Given the description of an element on the screen output the (x, y) to click on. 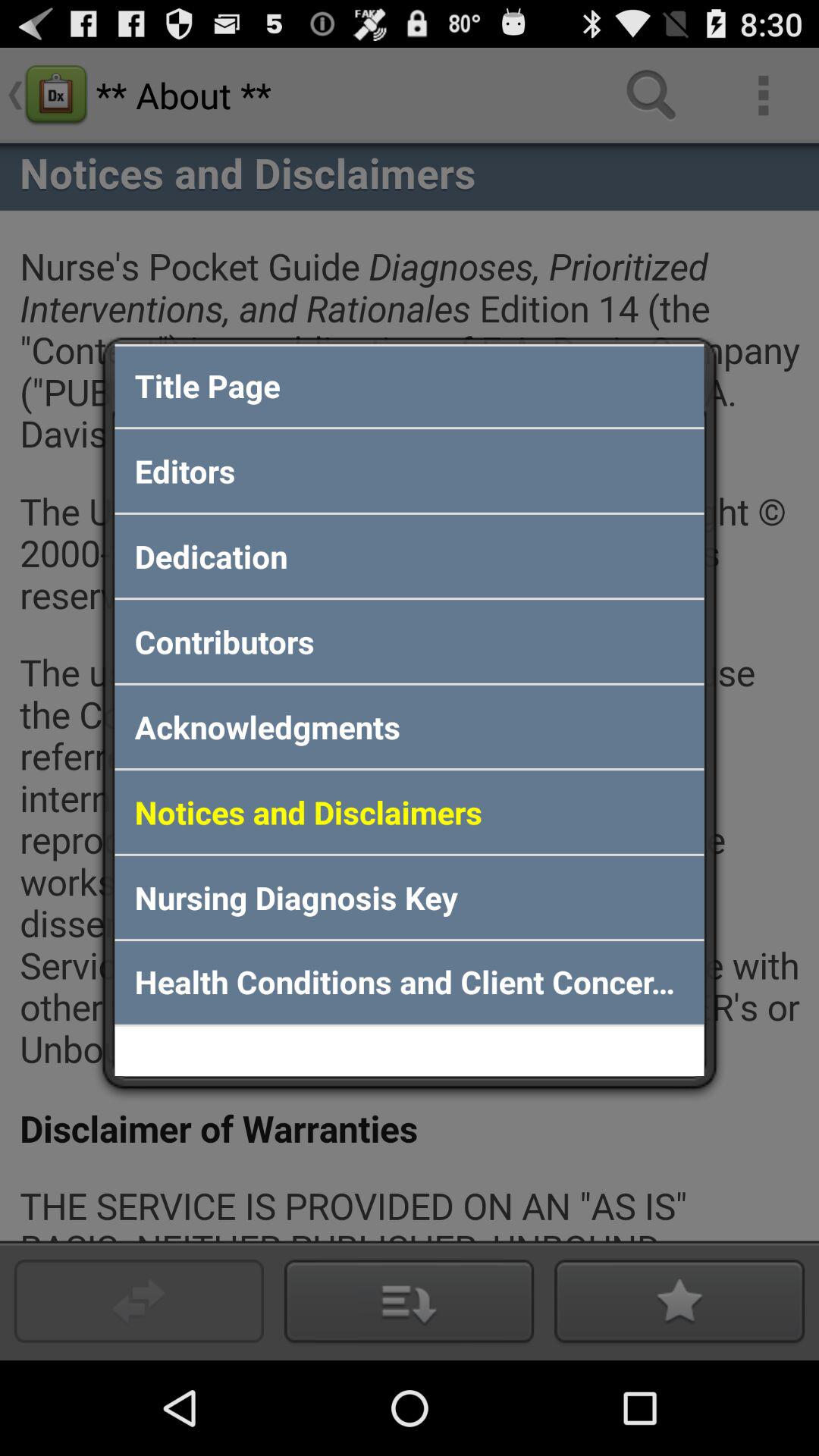
press the app above the notices and disclaimers app (409, 726)
